Given the description of an element on the screen output the (x, y) to click on. 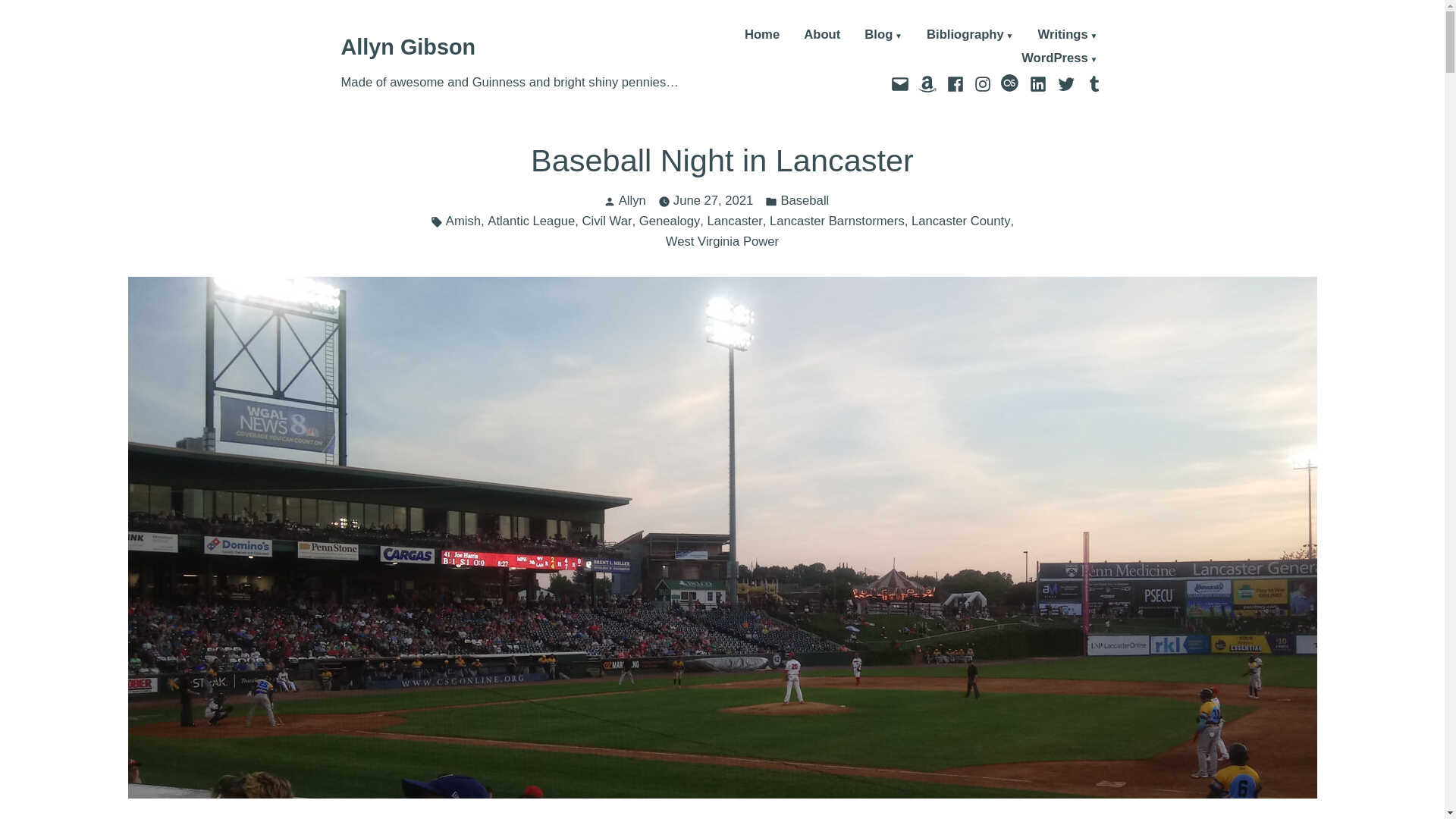
Home (761, 35)
Blog (883, 35)
About (821, 35)
Allyn Gibson (408, 46)
Bibliography (969, 35)
